Given the description of an element on the screen output the (x, y) to click on. 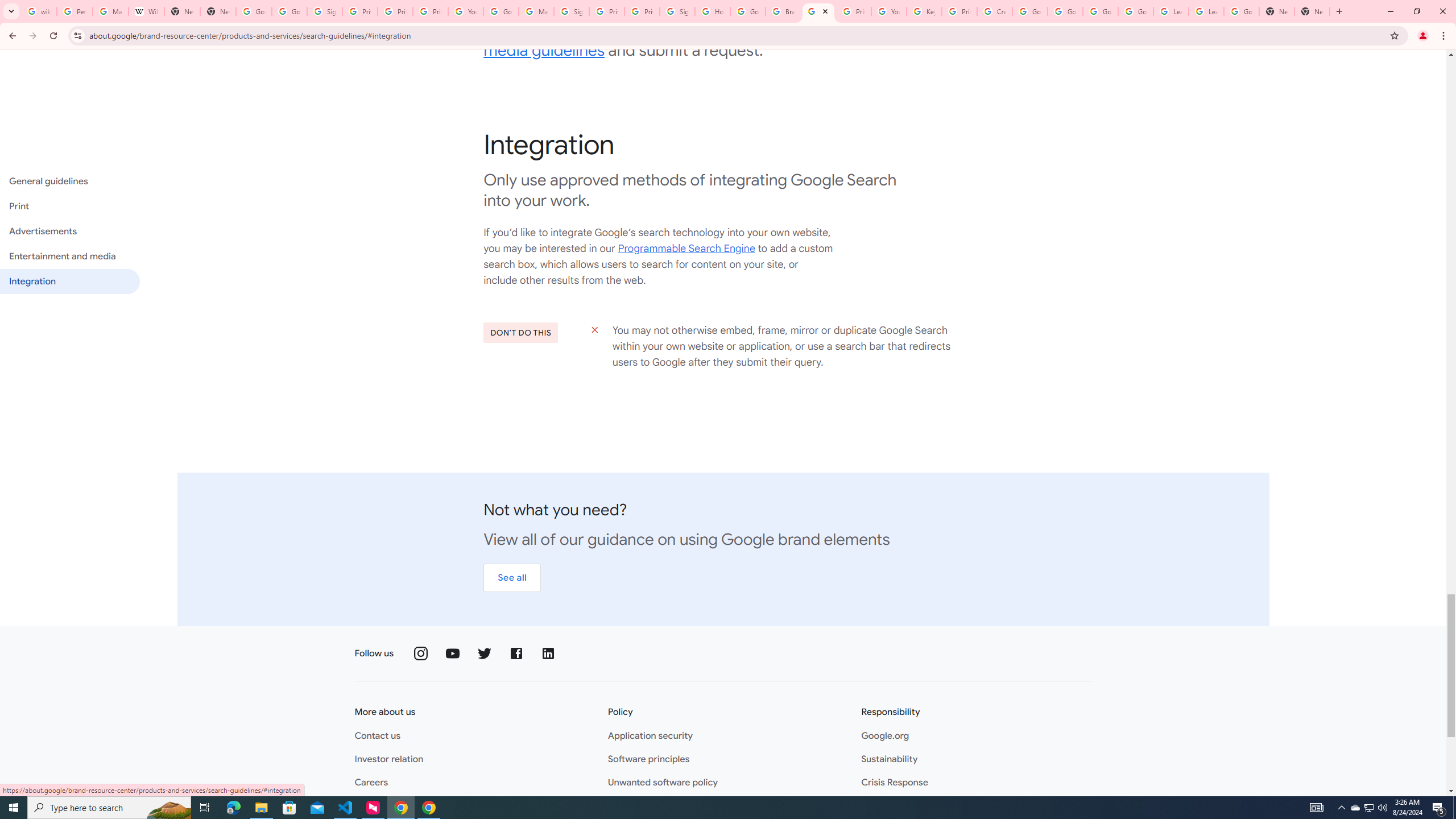
YouTube (465, 11)
Integration (69, 281)
Software principles (648, 759)
Application security (650, 735)
Programmable Search Engine (686, 248)
New Tab (218, 11)
Google Drive: Sign-in (288, 11)
